Given the description of an element on the screen output the (x, y) to click on. 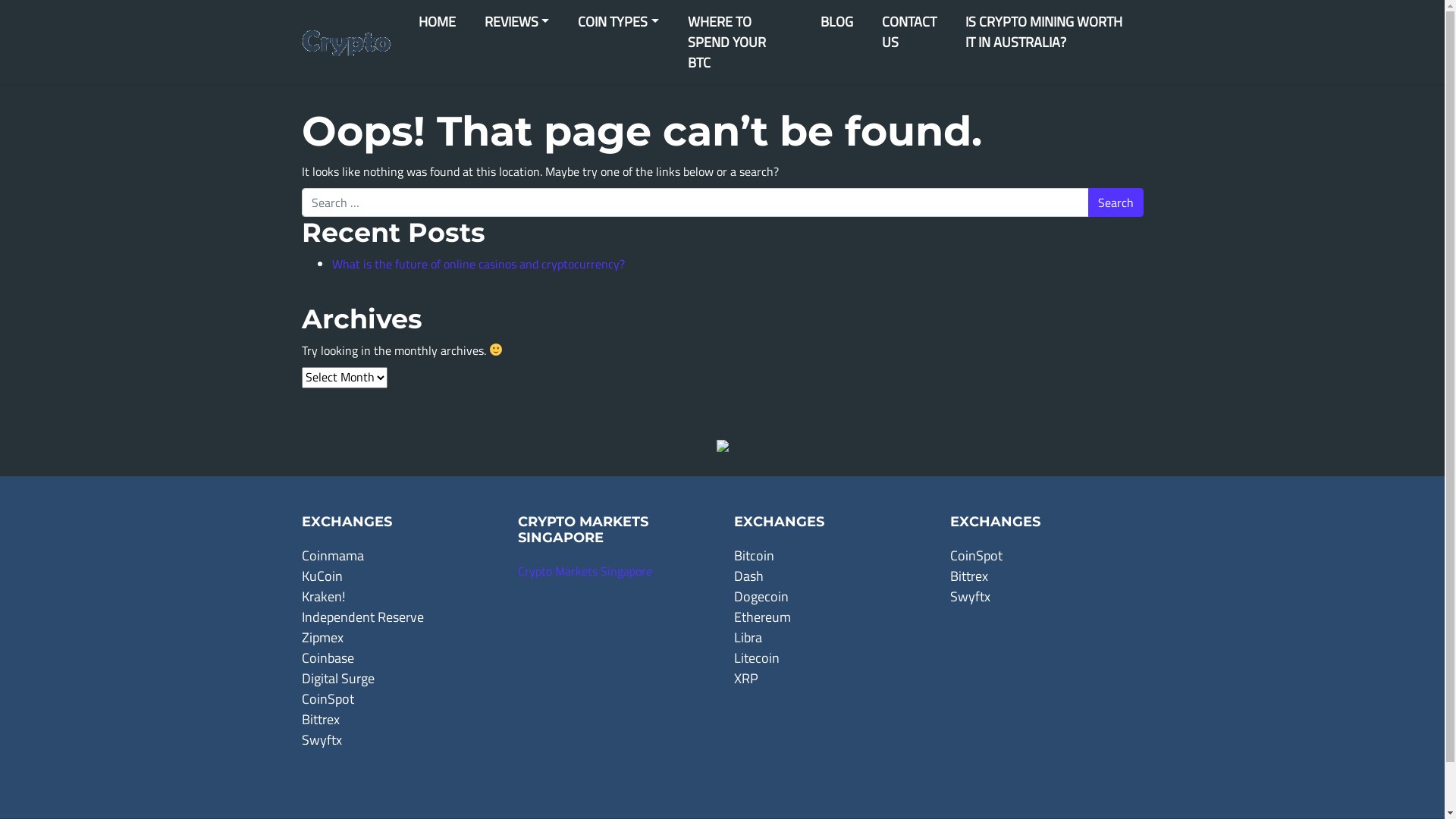
Coinbase Element type: text (327, 657)
Zipmex Element type: text (322, 637)
XRP Element type: text (746, 678)
Ethereum Element type: text (762, 616)
CONTACT US Element type: text (908, 31)
Digital Surge Element type: text (337, 678)
CoinSpot Element type: text (327, 698)
REVIEWS Element type: text (517, 21)
Search Element type: text (1114, 202)
IS CRYPTO MINING WORTH IT IN AUSTRALIA? Element type: text (1046, 31)
Dash Element type: text (748, 575)
Litecoin Element type: text (756, 657)
Coinmama Element type: text (332, 555)
Bittrex Element type: text (968, 575)
What is the future of online casinos and cryptocurrency? Element type: text (478, 263)
HOME Element type: text (437, 21)
Bitcoin Element type: text (754, 555)
CoinSpot Element type: text (975, 555)
Swyftx Element type: text (321, 739)
Libra Element type: text (748, 637)
KuCoin Element type: text (321, 575)
Bittrex Element type: text (320, 719)
Swyftx Element type: text (969, 596)
Kraken! Element type: text (323, 596)
Independent Reserve Element type: text (362, 616)
Dogecoin Element type: text (761, 596)
BLOG Element type: text (836, 21)
WHERE TO SPEND YOUR BTC Element type: text (739, 42)
COIN TYPES Element type: text (618, 21)
Crypto Markets Singapore Element type: text (584, 570)
